Given the description of an element on the screen output the (x, y) to click on. 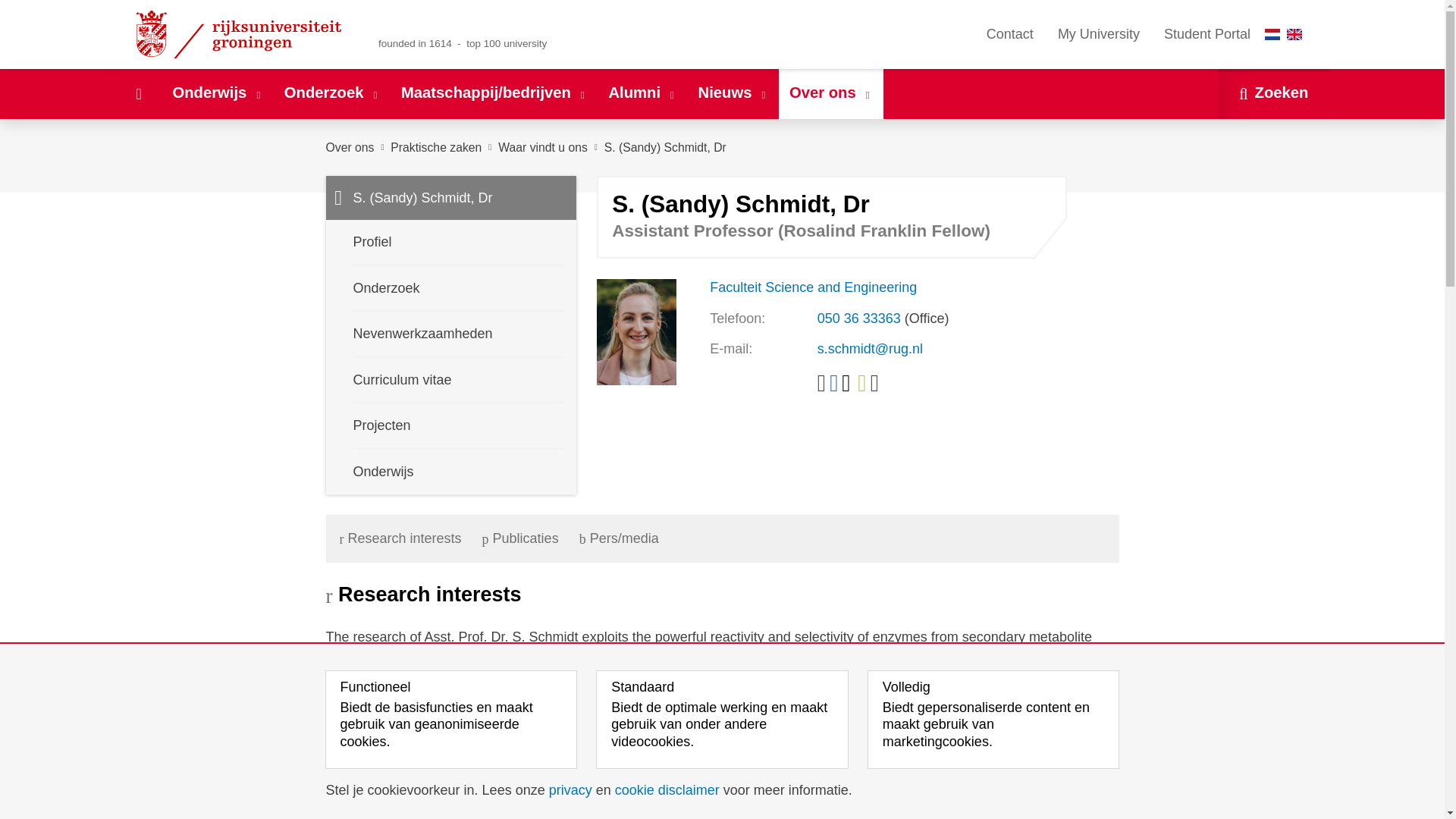
Nederlands (1272, 33)
Taal selectie (1286, 34)
Rijksuniversiteit Groningen (241, 34)
English (1293, 33)
Student Portal (1206, 34)
Onderzoek (331, 93)
My University (1098, 34)
Home (138, 93)
Contact (1009, 34)
Onderwijs (217, 93)
